Given the description of an element on the screen output the (x, y) to click on. 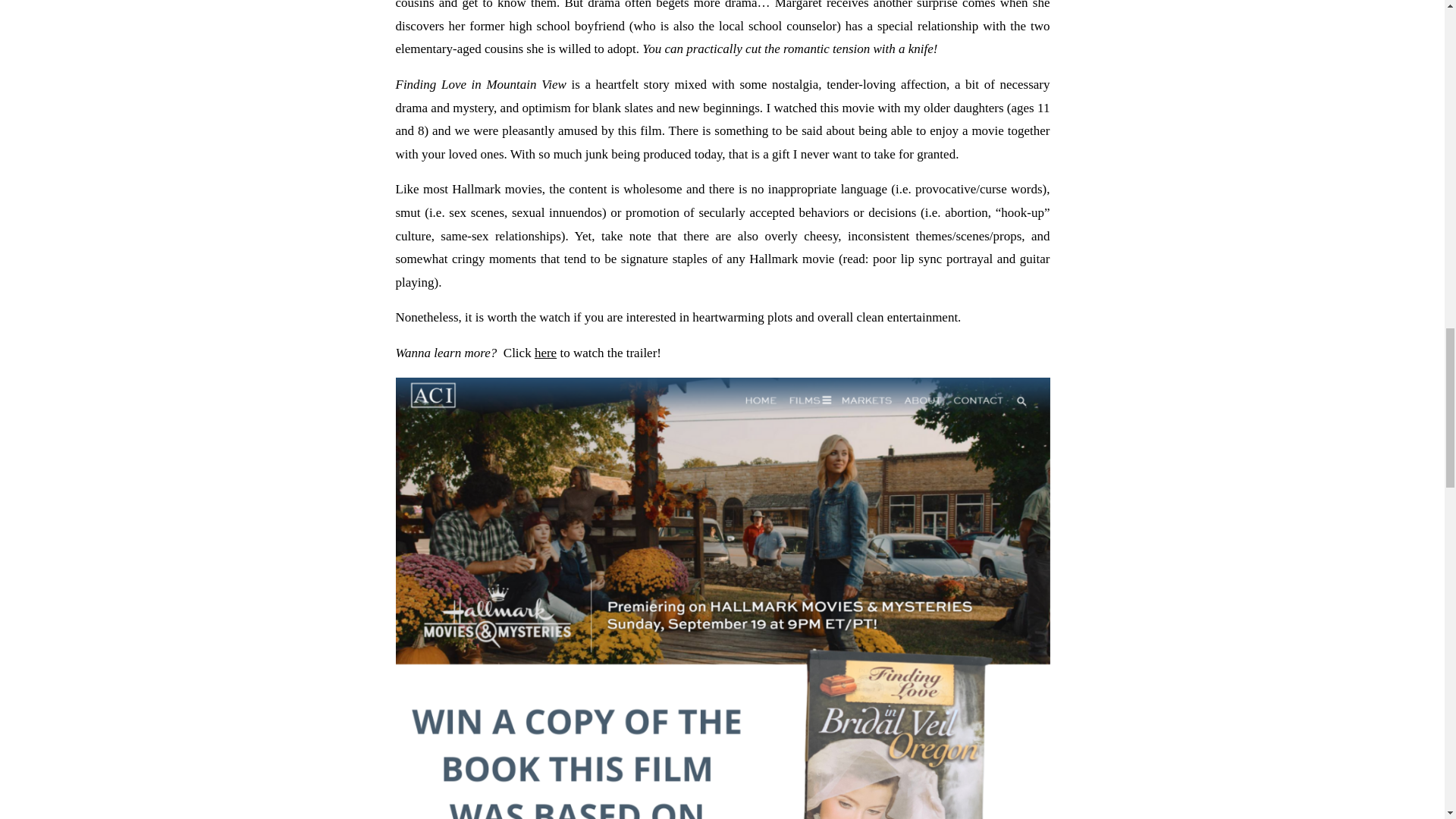
here (545, 352)
